Given the description of an element on the screen output the (x, y) to click on. 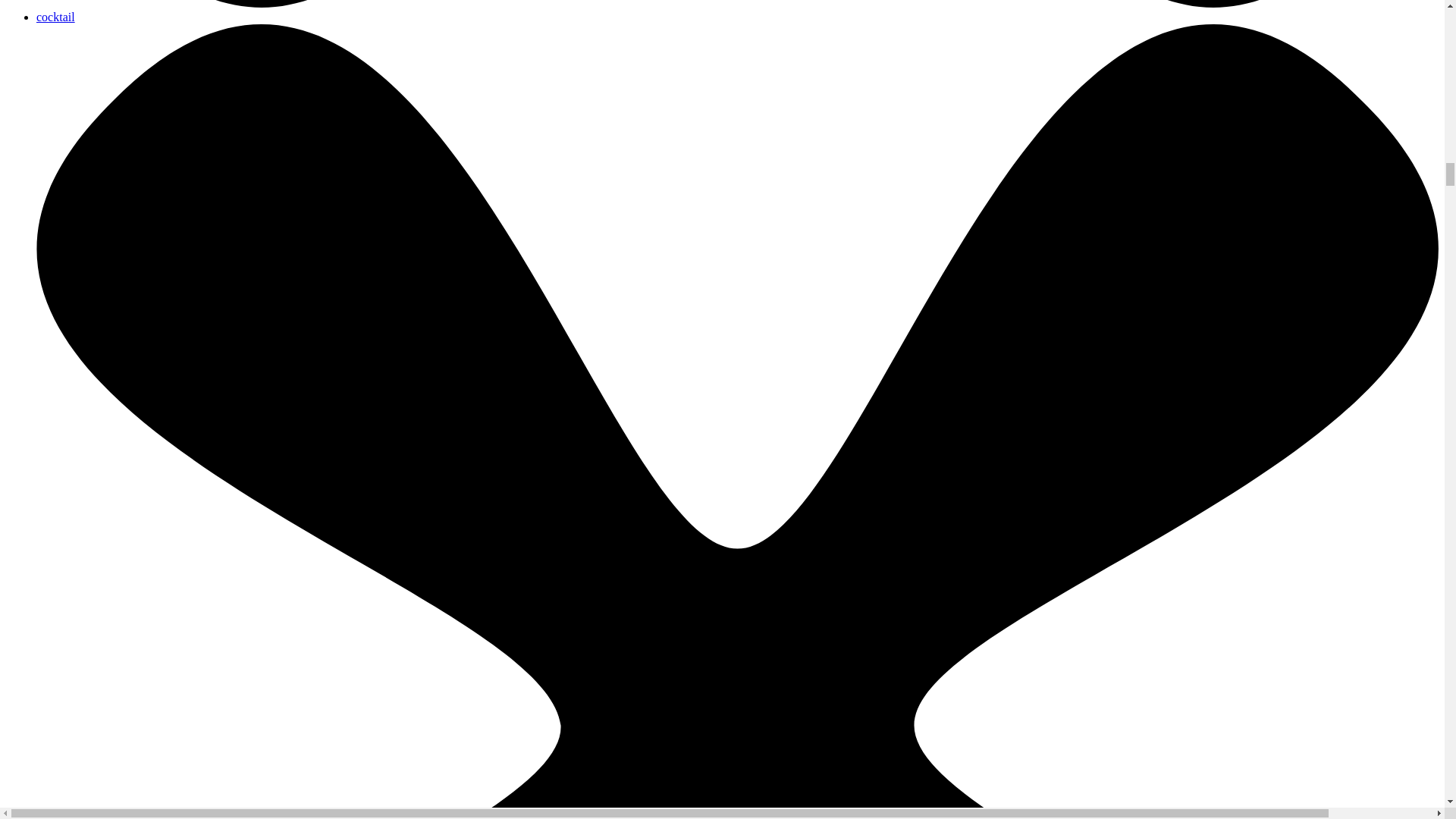
cocktail (55, 16)
